Given the description of an element on the screen output the (x, y) to click on. 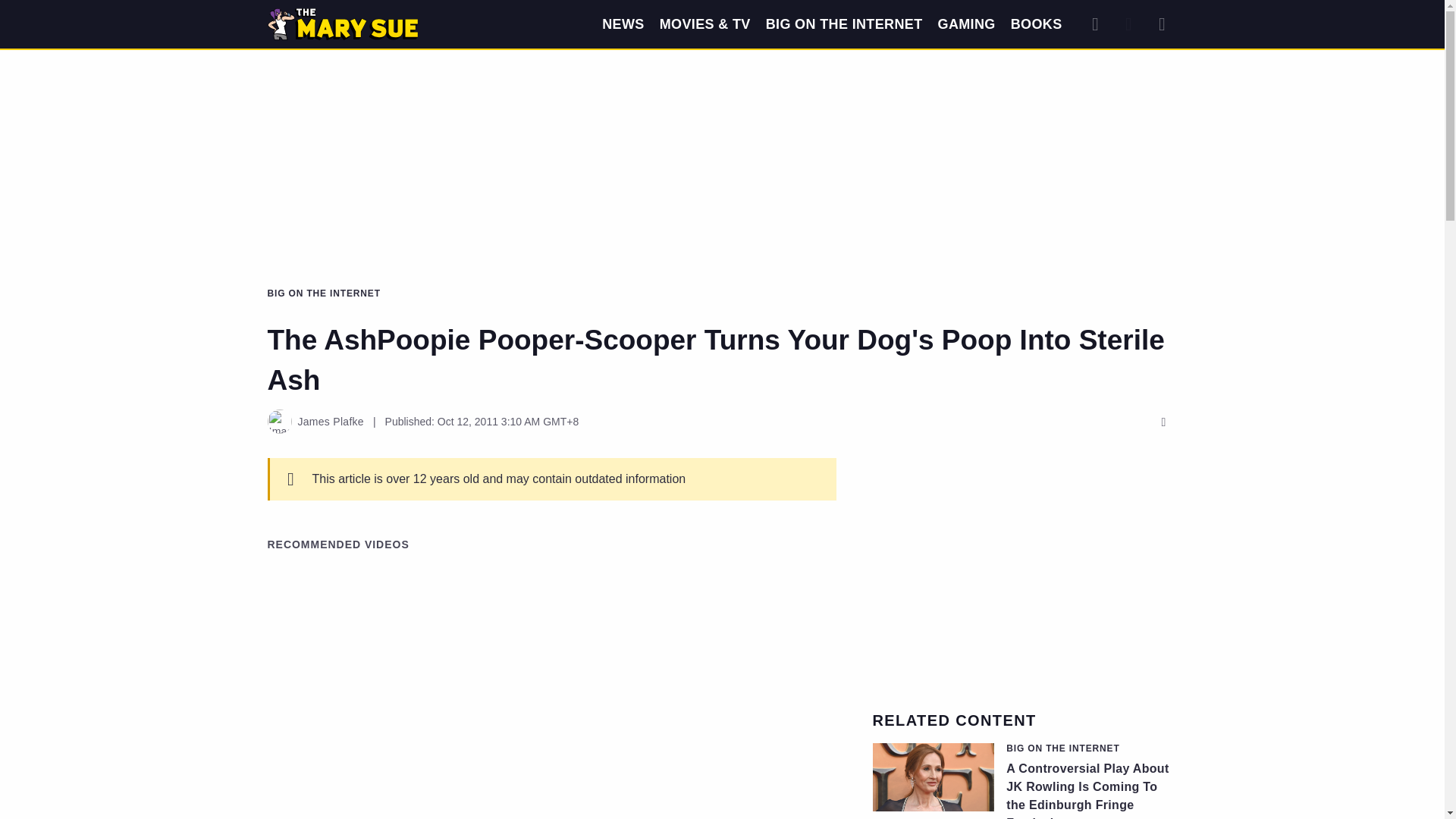
Search (1094, 24)
NEWS (622, 23)
BIG ON THE INTERNET (844, 23)
Expand Menu (1161, 24)
BOOKS (1036, 23)
Dark Mode (1127, 24)
GAMING (966, 23)
